Given the description of an element on the screen output the (x, y) to click on. 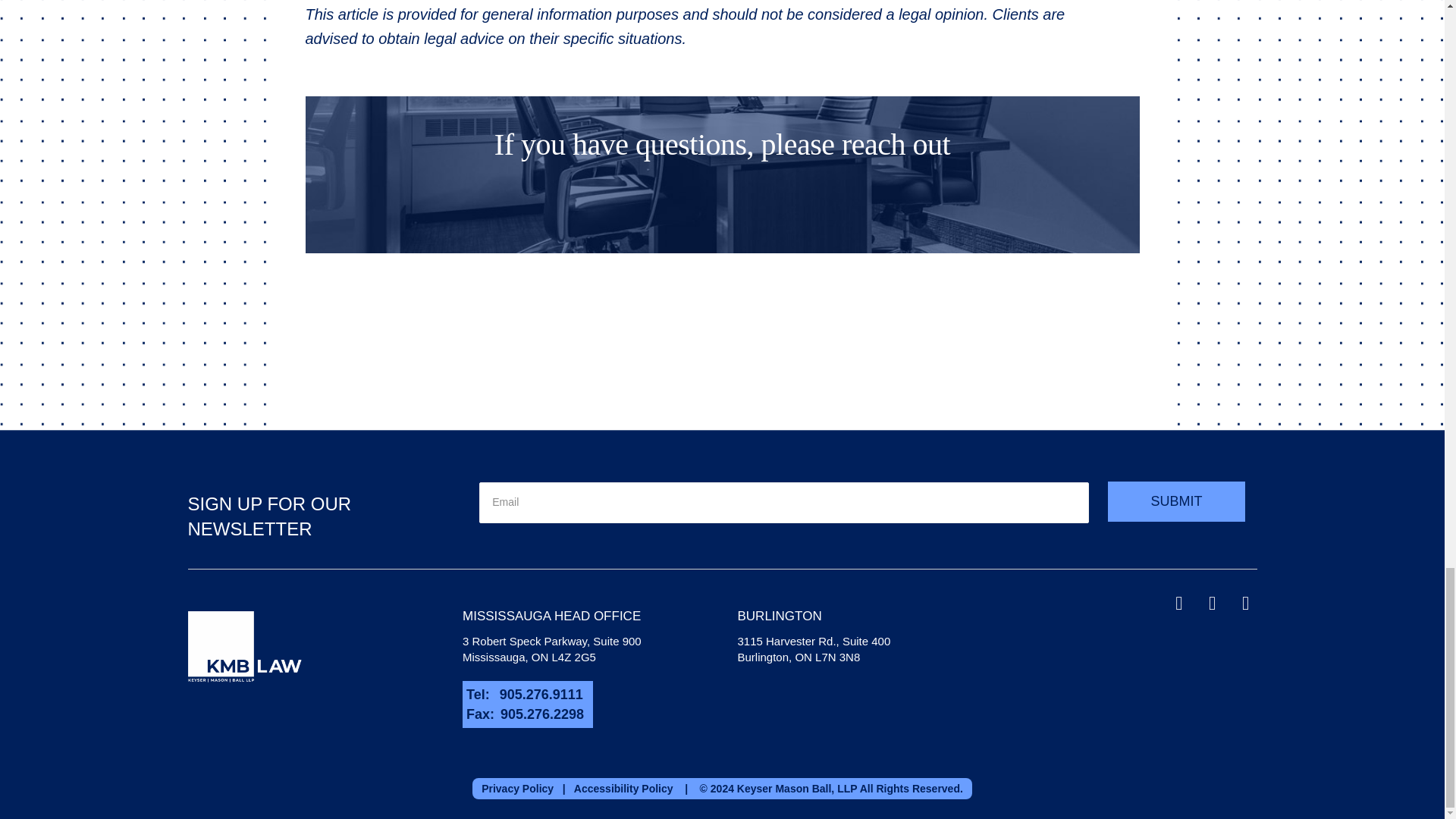
Submit (1176, 501)
Instagram (1245, 603)
Twitter (1179, 603)
LinkedIn (1212, 603)
